Given the description of an element on the screen output the (x, y) to click on. 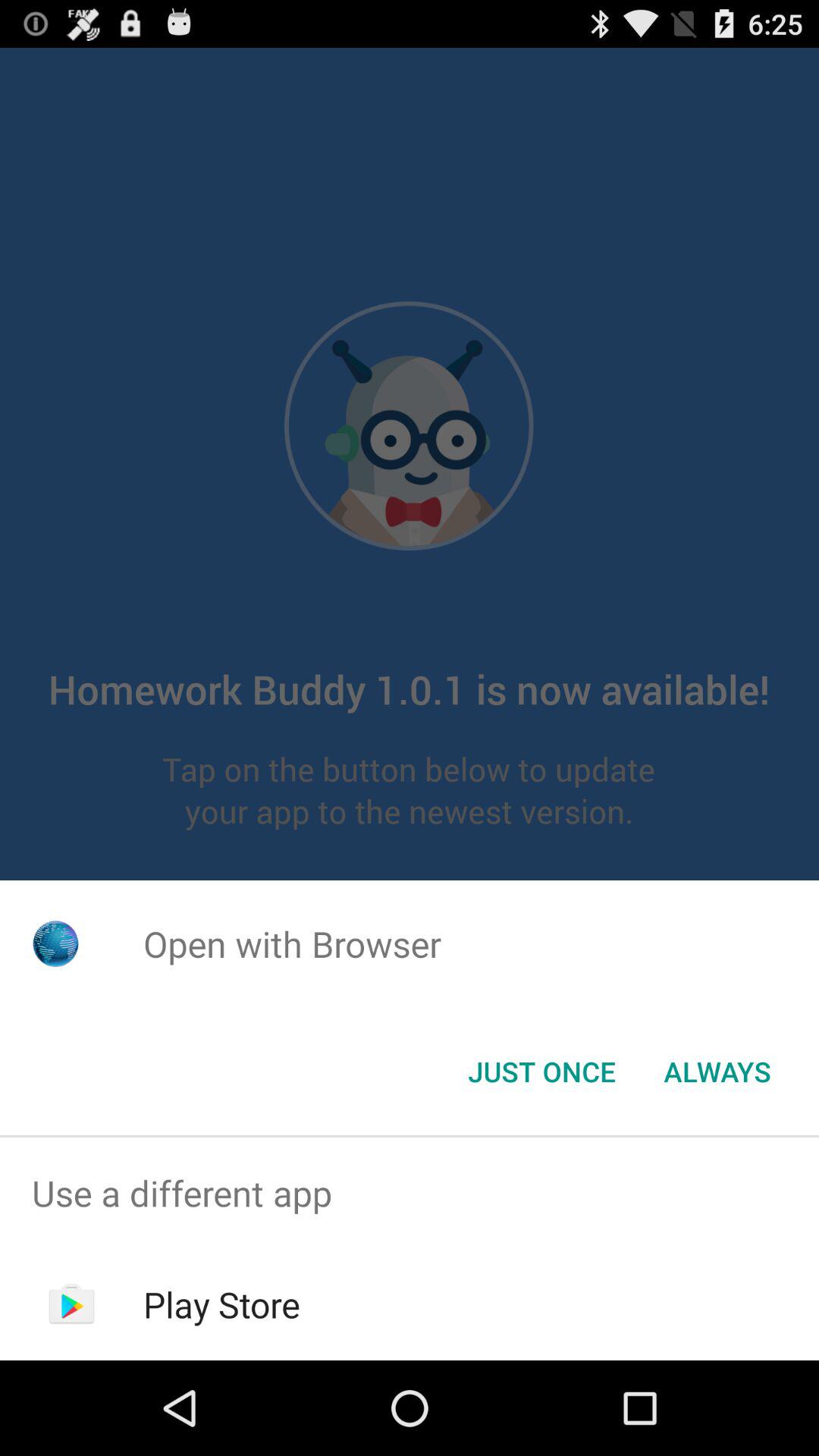
swipe to just once (541, 1071)
